Given the description of an element on the screen output the (x, y) to click on. 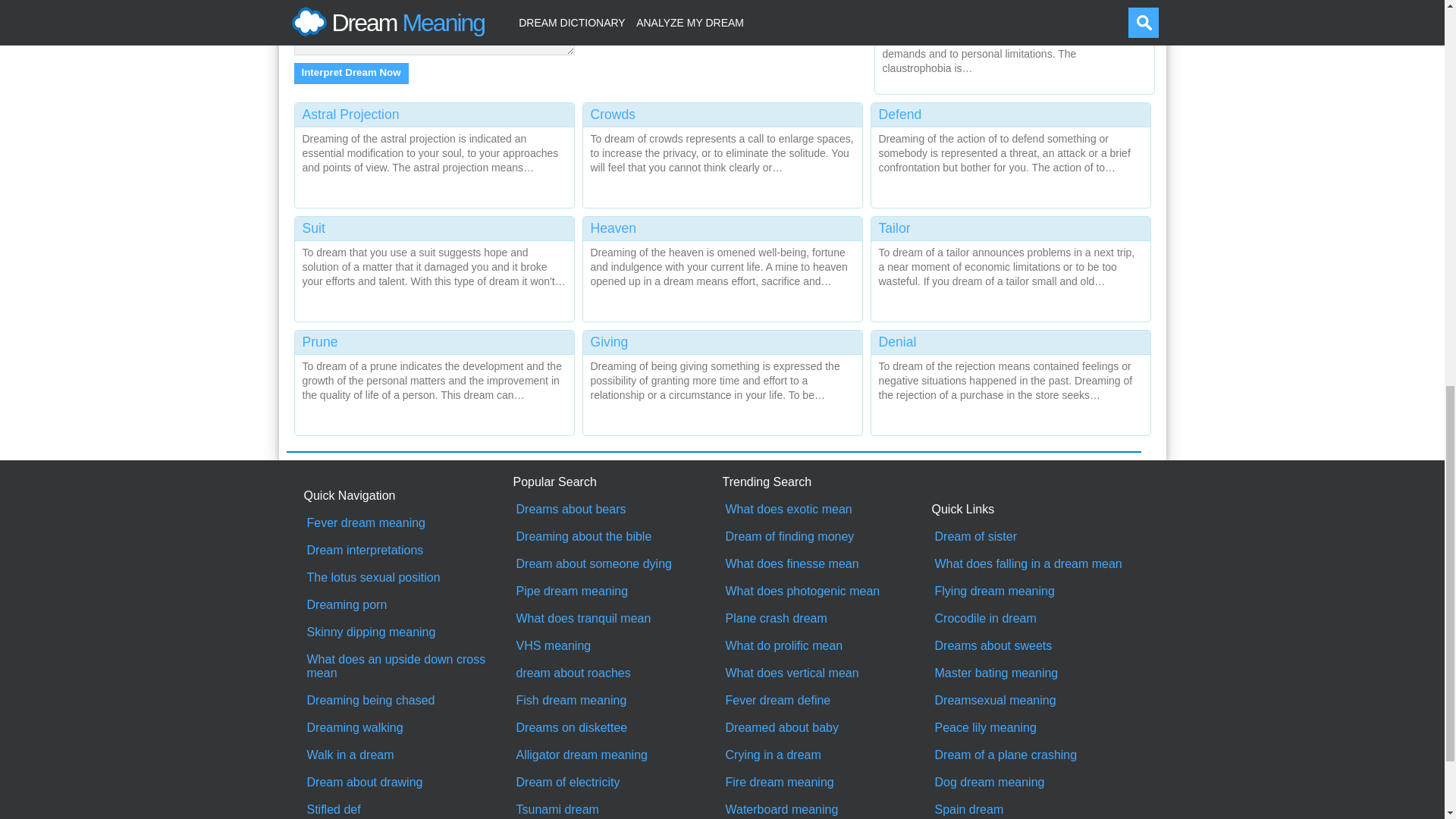
Claustrophobia Dream Meaning (1014, 43)
Dreams about bears (617, 509)
What does an upside down cross mean (407, 666)
VHS meaning (617, 645)
Walk in a dream (407, 755)
Dreaming being chased (407, 700)
Dream about drawing (407, 782)
Stifled def (407, 809)
Dreaming porn (407, 604)
Astral Projection Dream Meaning (433, 151)
